Given the description of an element on the screen output the (x, y) to click on. 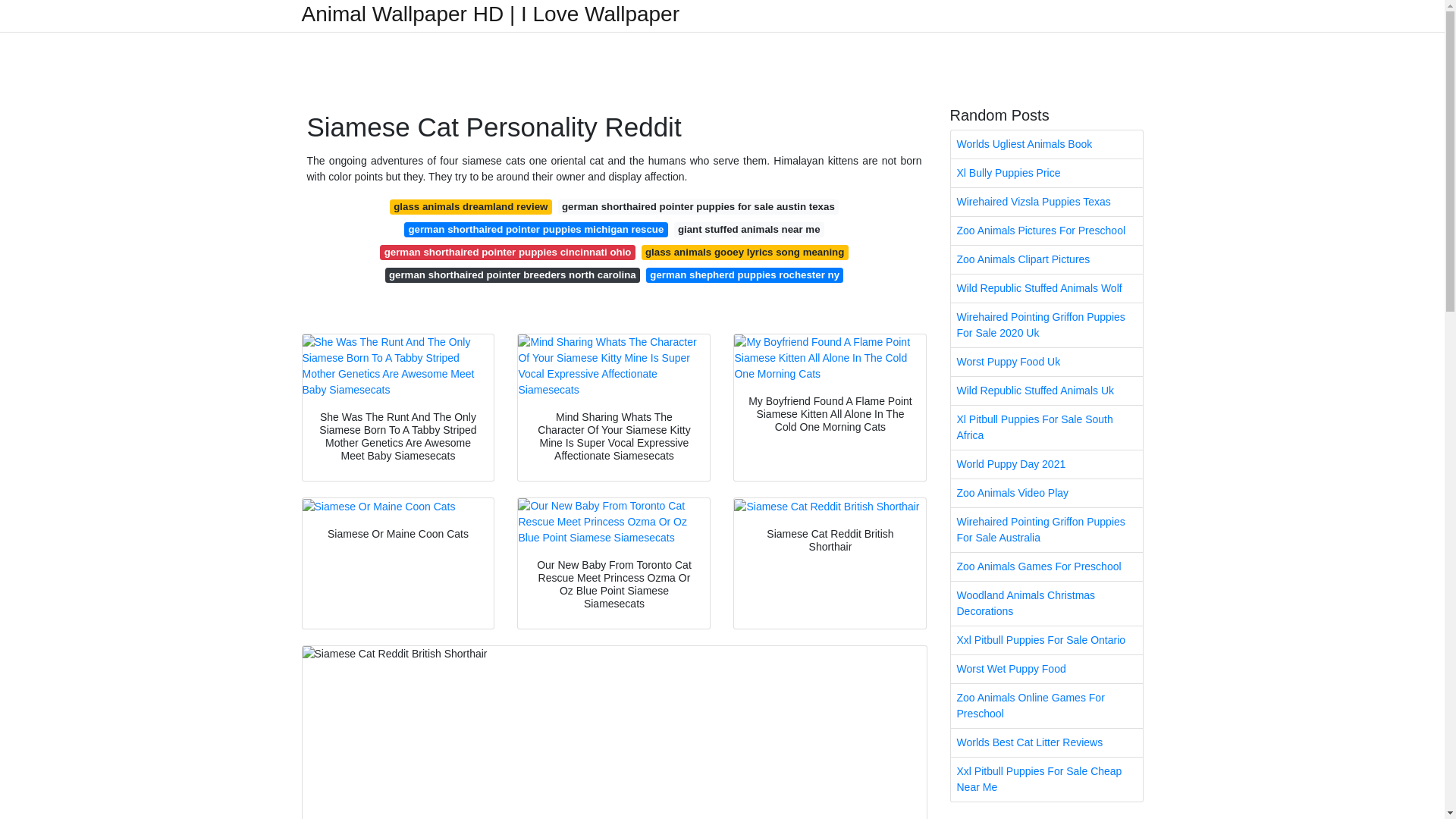
german shorthaired pointer puppies for sale austin texas (697, 206)
glass animals dreamland review (470, 206)
german shepherd puppies rochester ny (744, 274)
Zoo Animals Pictures For Preschool (1046, 230)
Xl Pitbull Puppies For Sale South Africa (1046, 427)
Wirehaired Vizsla Puppies Texas (1046, 202)
Wild Republic Stuffed Animals Wolf (1046, 288)
Zoo Animals Clipart Pictures (1046, 259)
german shorthaired pointer breeders north carolina (512, 274)
Worst Puppy Food Uk (1046, 361)
